Given the description of an element on the screen output the (x, y) to click on. 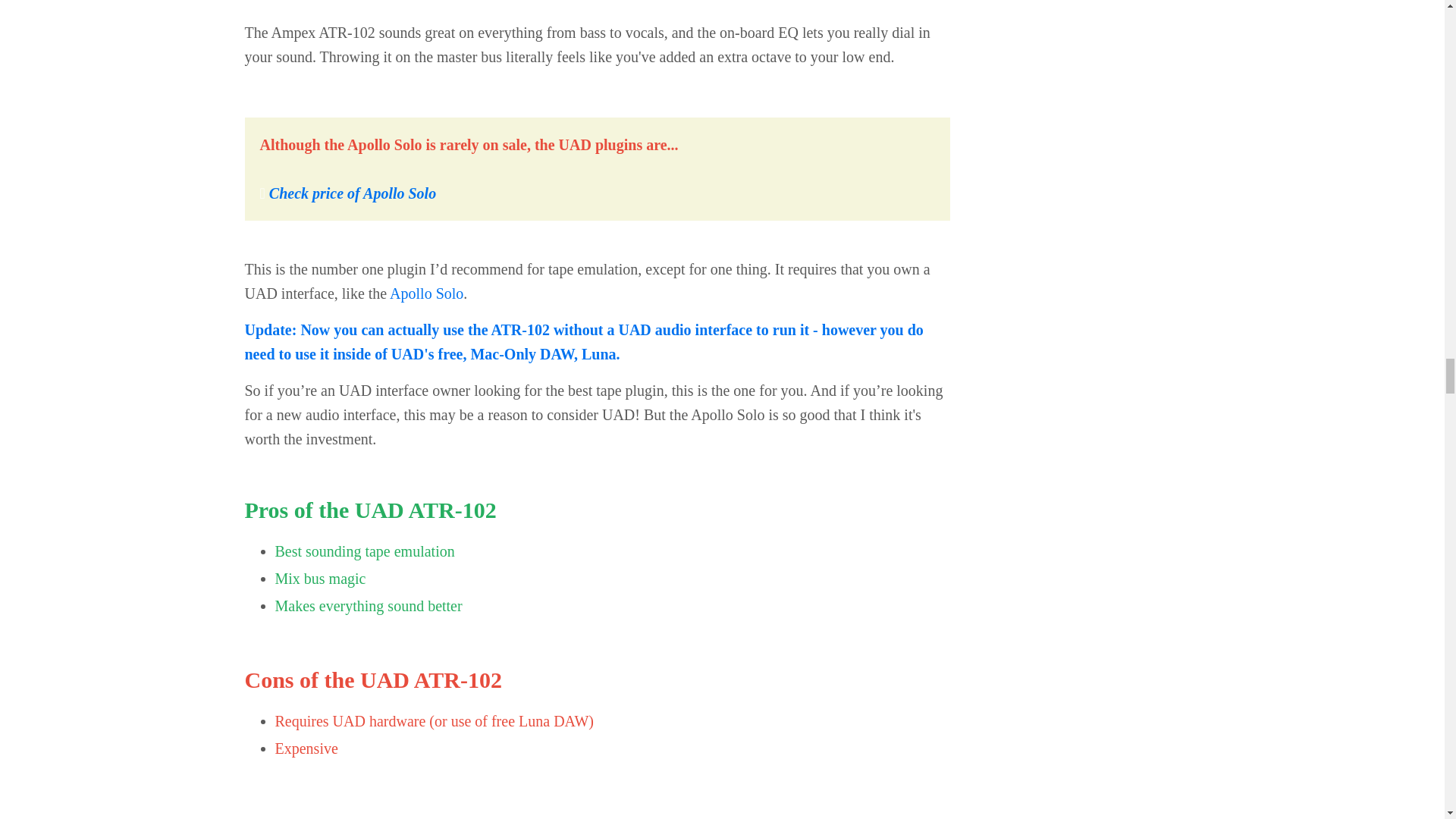
Apollo Solo (426, 293)
 Check price of Apollo Solo (349, 193)
